Given the description of an element on the screen output the (x, y) to click on. 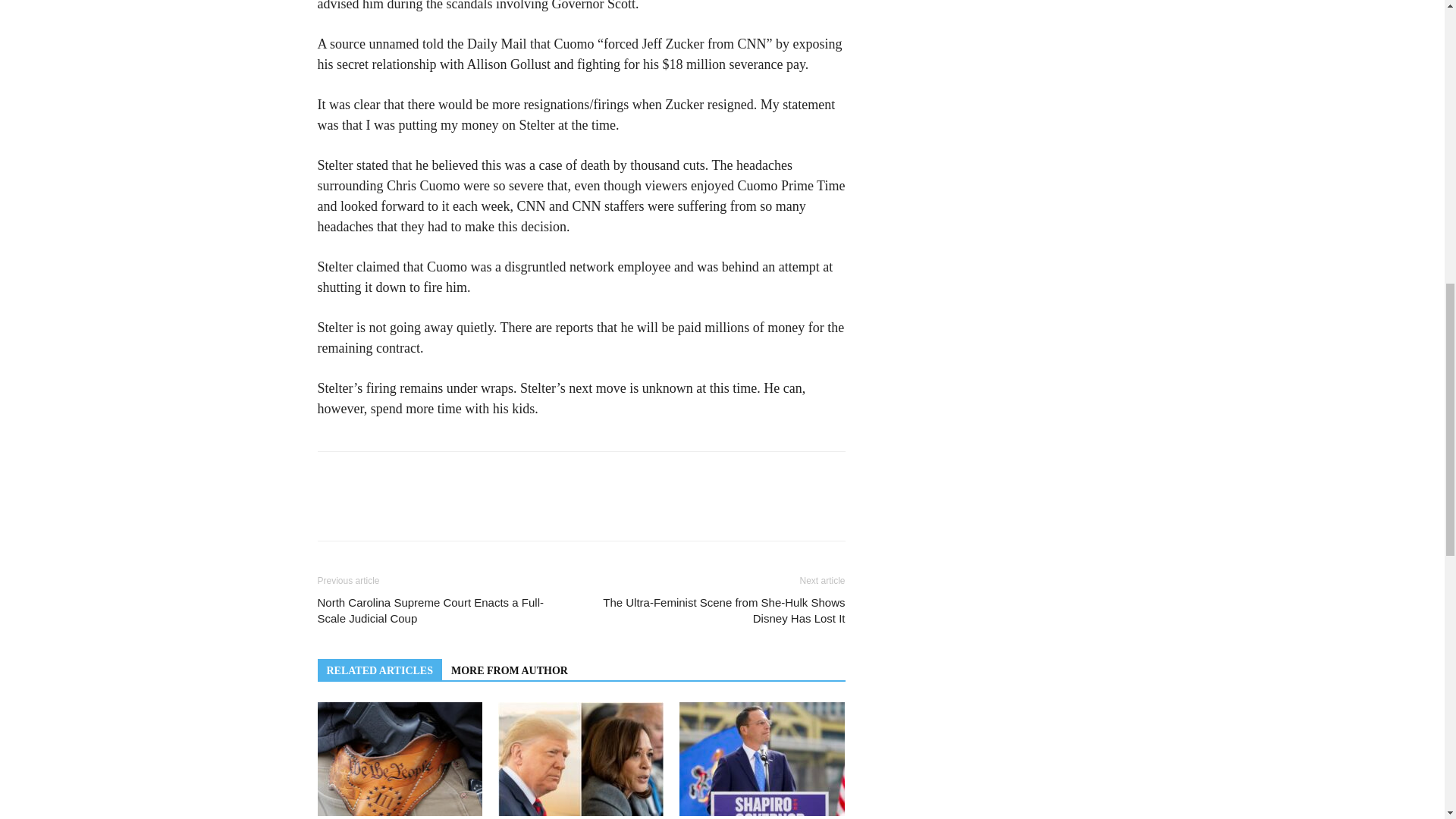
RELATED ARTICLES (379, 669)
MORE FROM AUTHOR (509, 669)
